Given the description of an element on the screen output the (x, y) to click on. 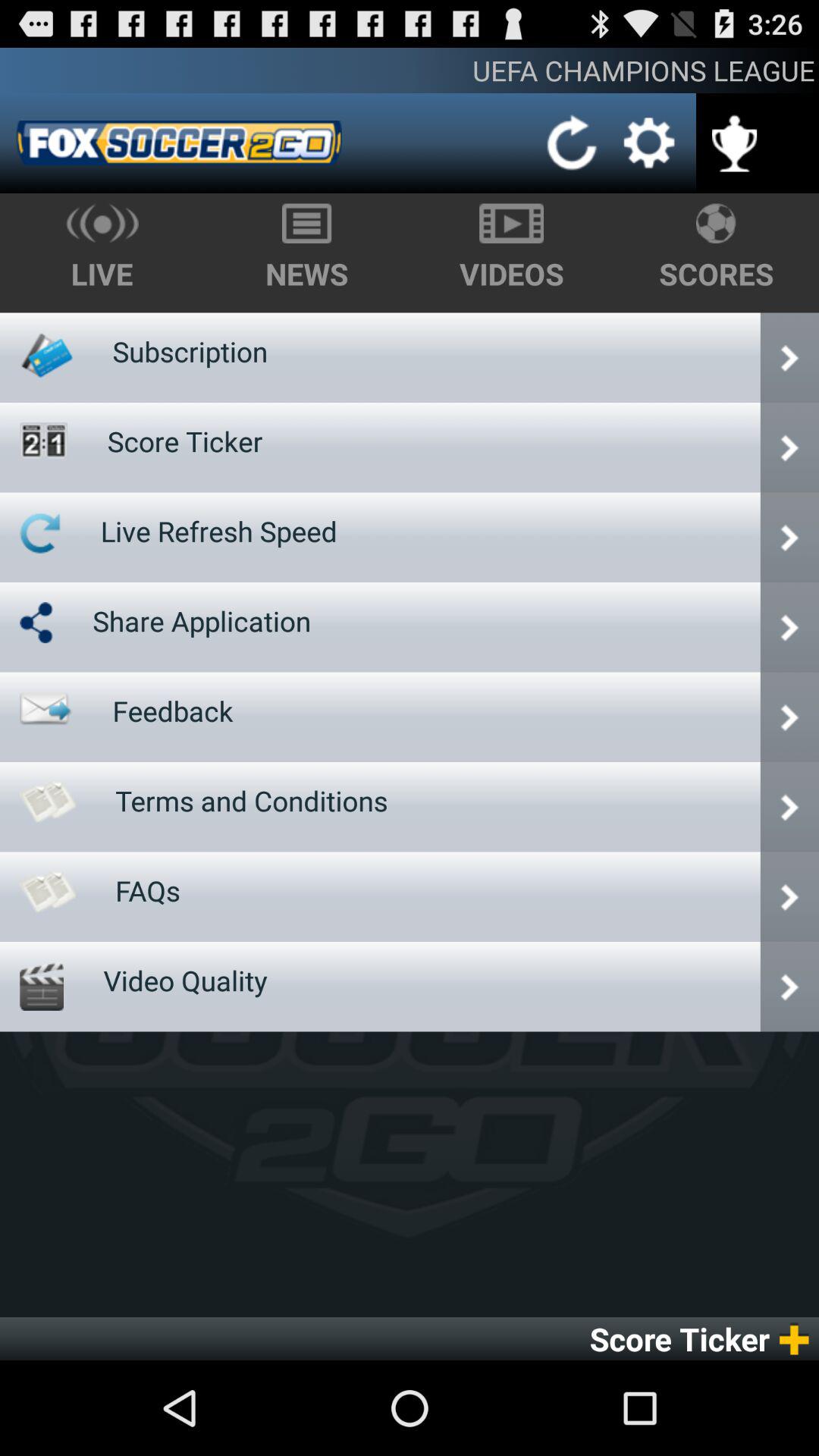
click the faqs icon (147, 890)
